Given the description of an element on the screen output the (x, y) to click on. 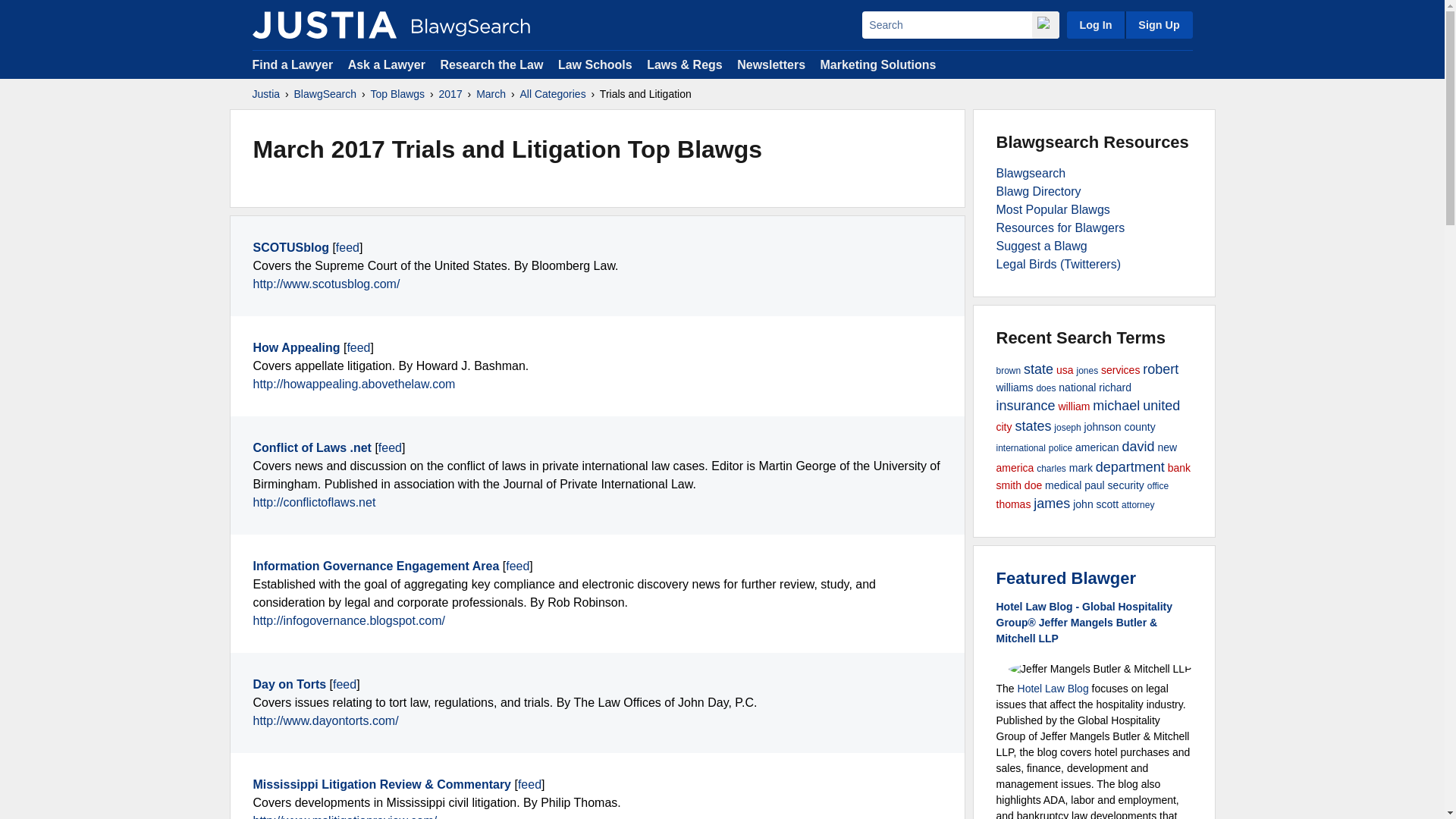
Log In (1094, 24)
Marketing Solutions (877, 64)
Top Blawgs (397, 93)
Sign Up (1158, 24)
Newsletters (770, 64)
Law Schools (594, 64)
Research the Law (491, 64)
feed (389, 447)
How Appealing (296, 347)
All Categories (552, 93)
